Given the description of an element on the screen output the (x, y) to click on. 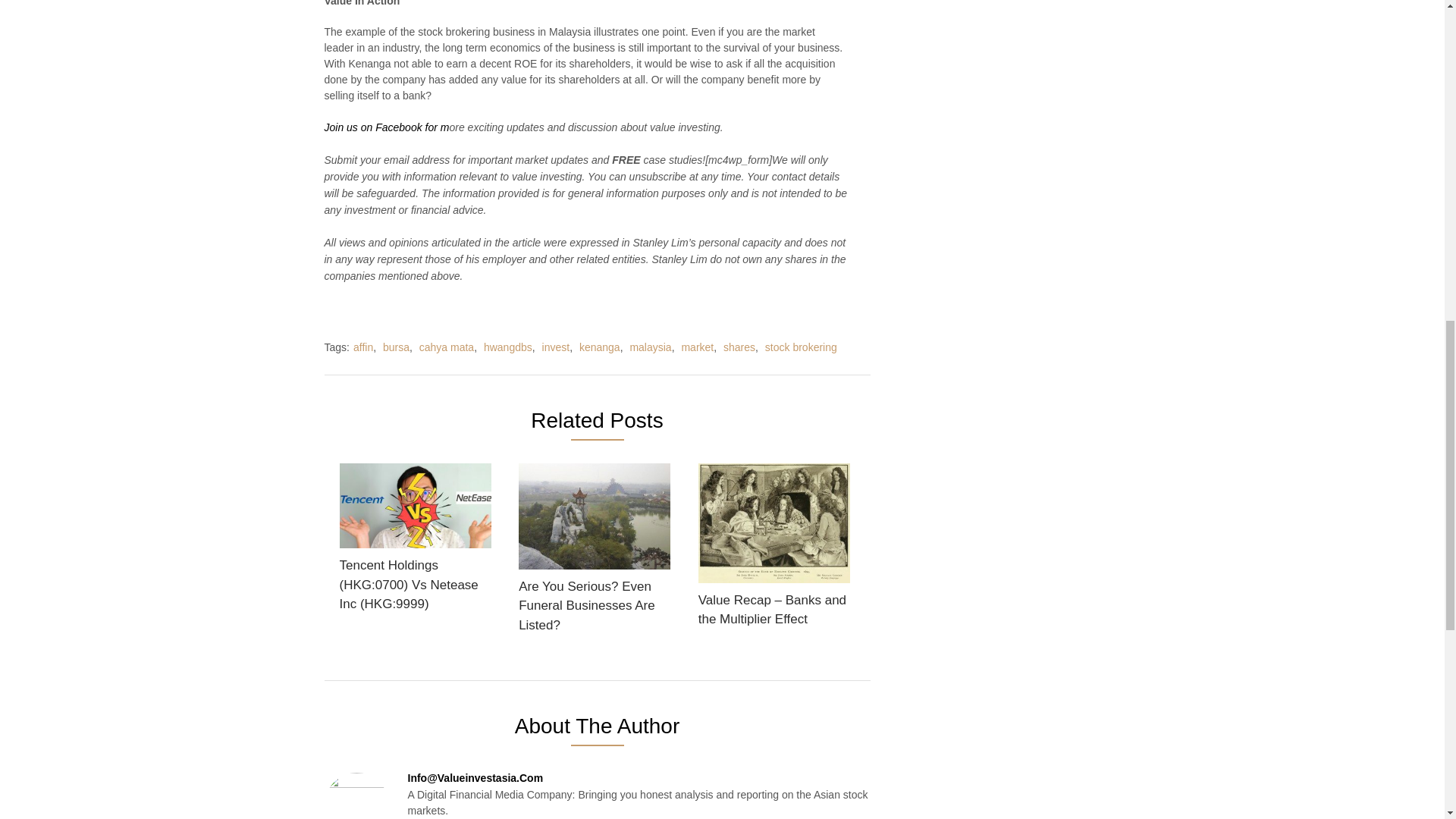
Join us on Facebook (373, 127)
kenanga (599, 346)
hwangdbs (507, 346)
invest (555, 346)
market (697, 346)
malaysia (649, 346)
cahya mata (446, 346)
affin (362, 346)
shares (739, 346)
bursa (395, 346)
